Given the description of an element on the screen output the (x, y) to click on. 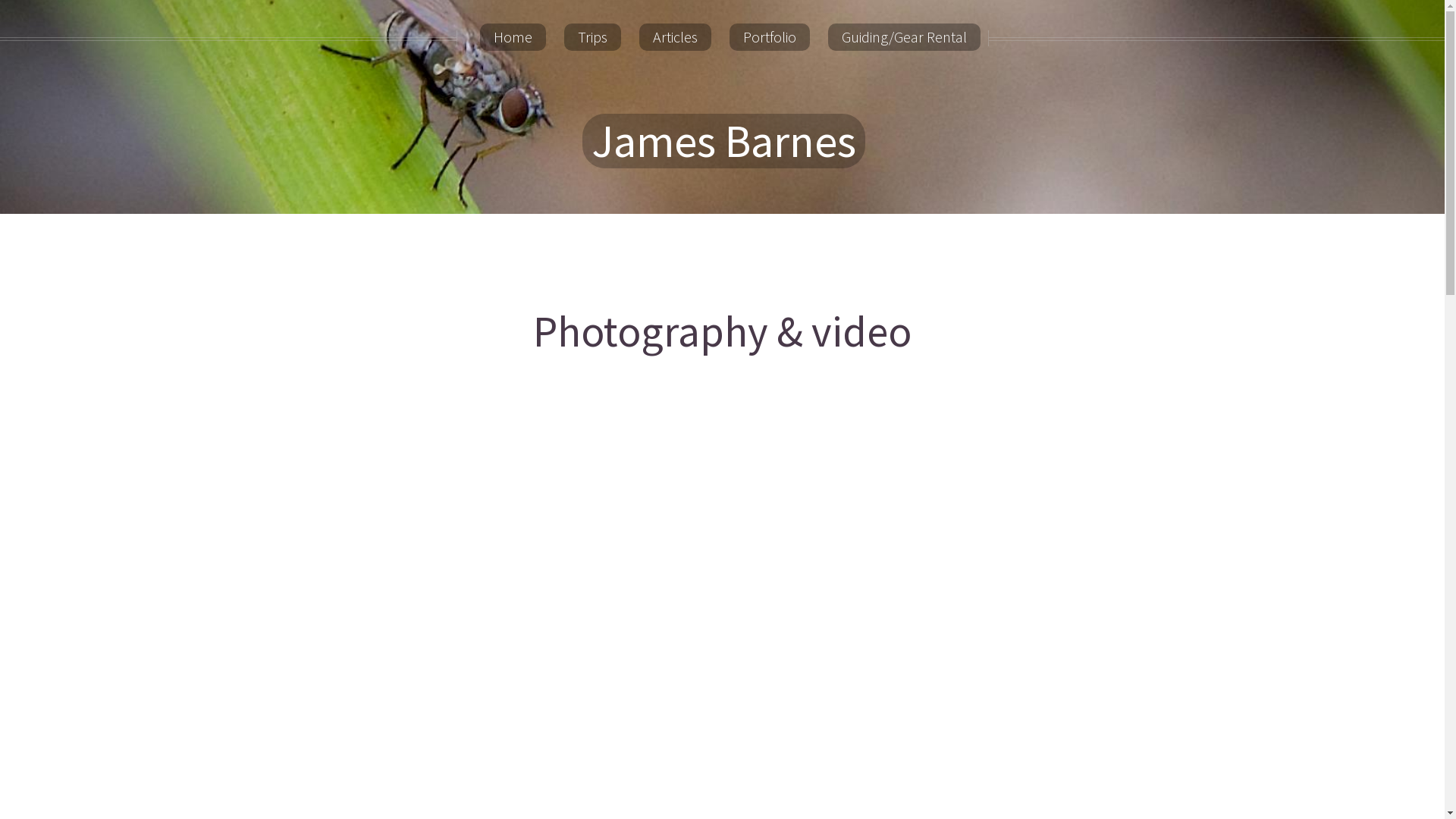
James Barnes Element type: text (723, 140)
